Given the description of an element on the screen output the (x, y) to click on. 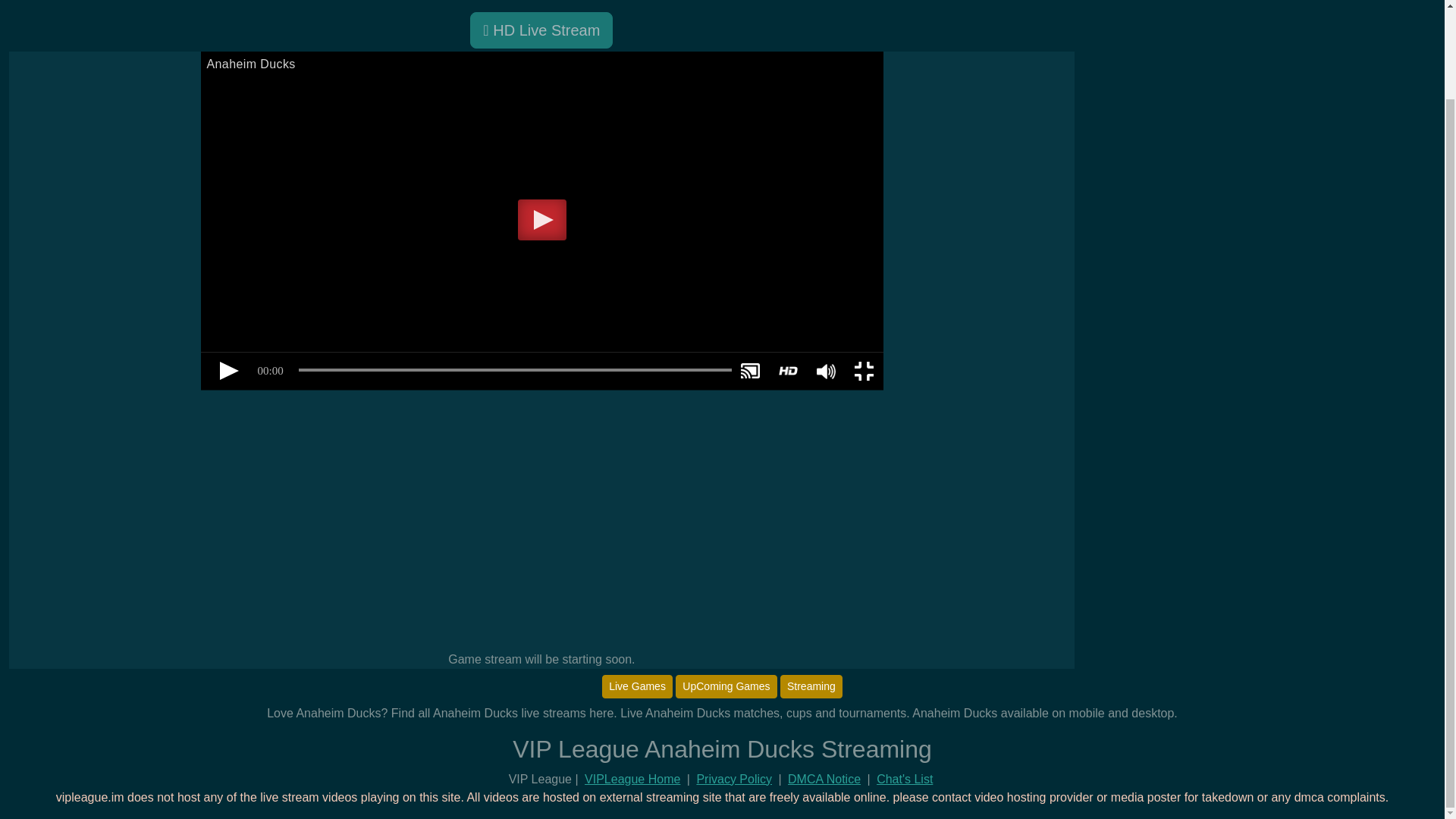
DMCA Notice (823, 779)
Streaming (811, 686)
Chat's List (904, 779)
Privacy Policy (733, 779)
Live Games (637, 686)
VIPLeague Home (632, 779)
UpComing Games (725, 686)
